Given the description of an element on the screen output the (x, y) to click on. 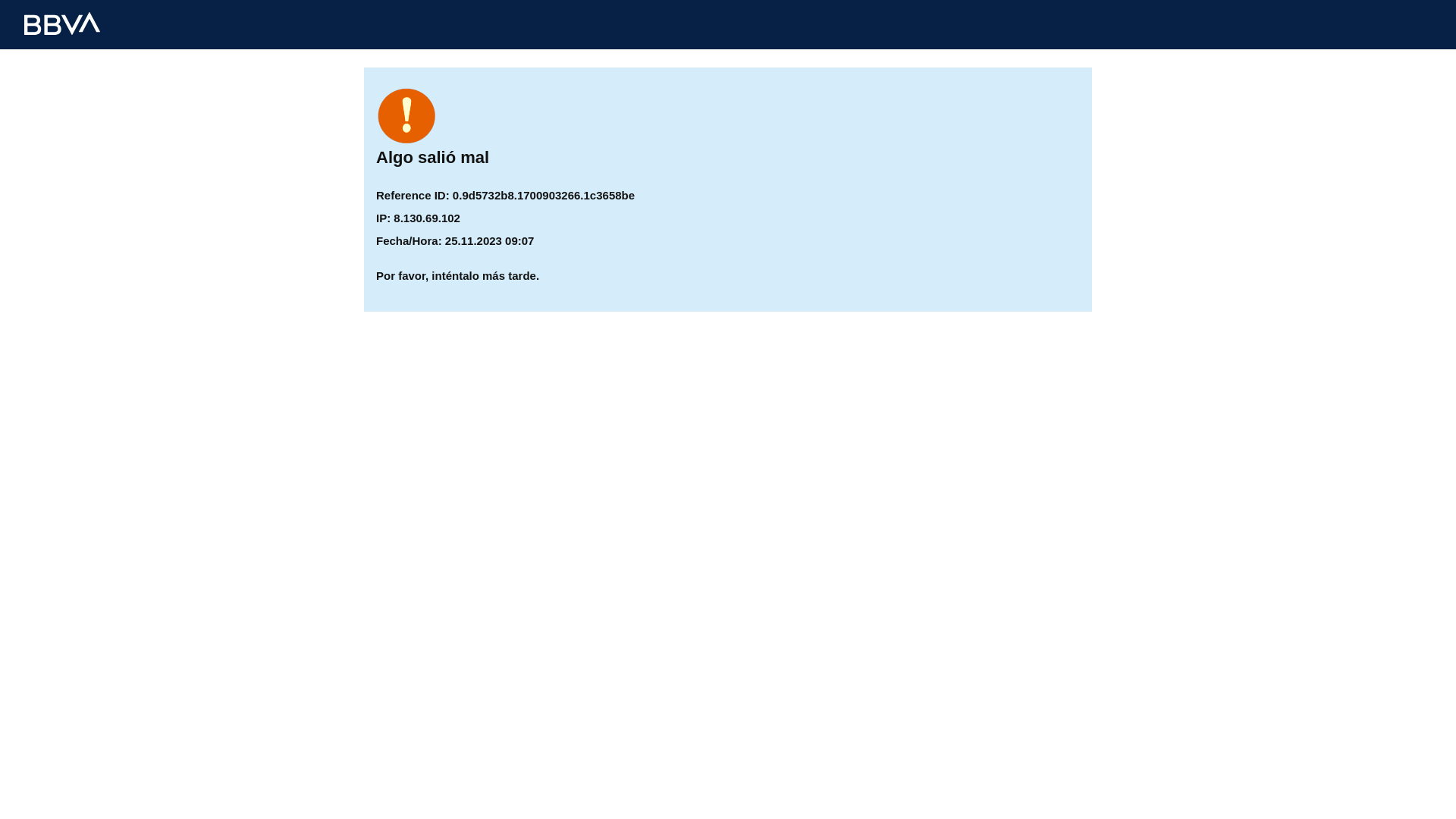
LOGO BBVA Element type: hover (62, 23)
